Given the description of an element on the screen output the (x, y) to click on. 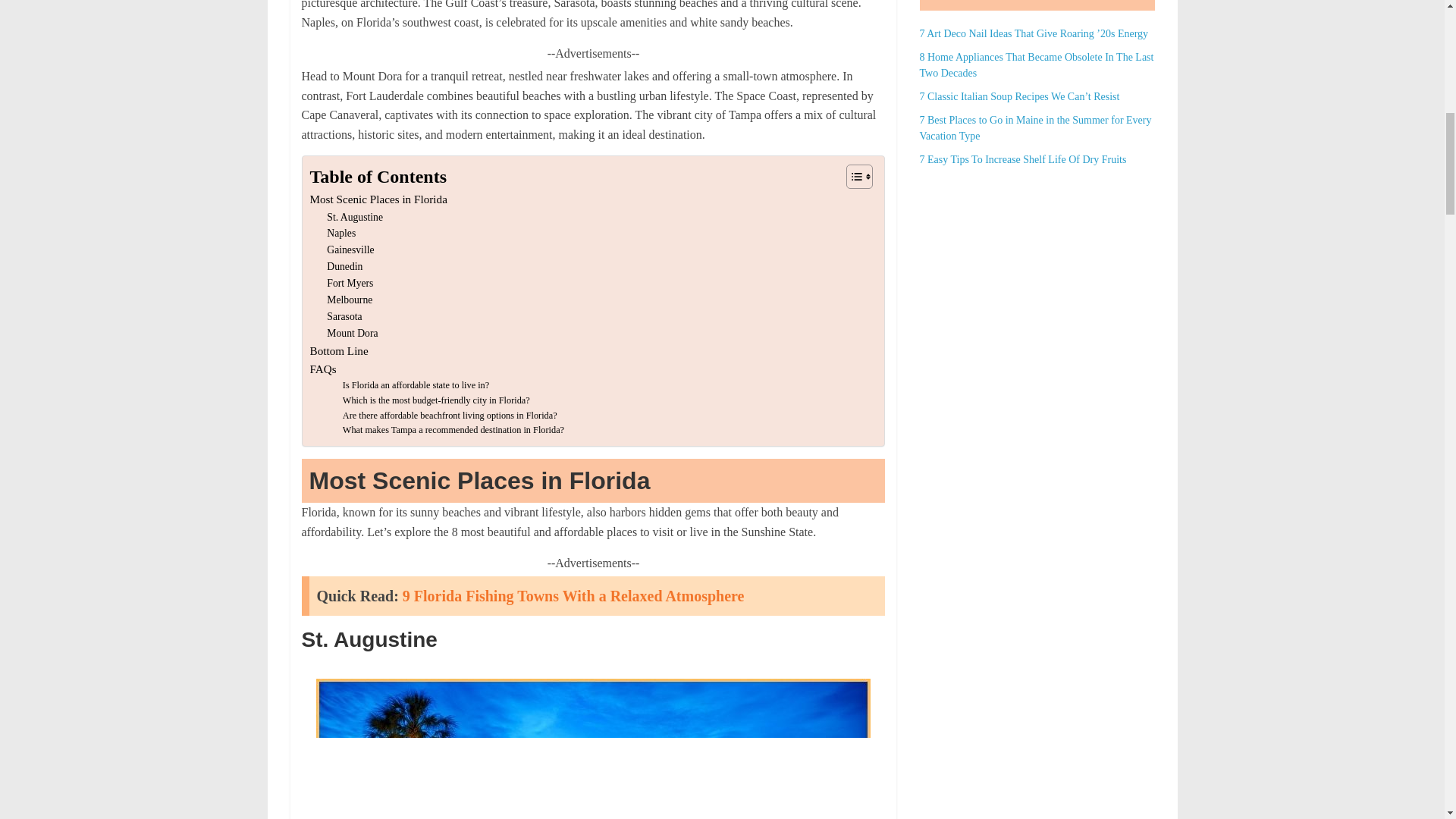
Naples (340, 233)
Most Scenic Places in Florida (377, 199)
Gainesville (350, 249)
Dunedin (344, 266)
St. Augustine (354, 217)
Dunedin (344, 266)
Naples (340, 233)
Fort Myers (349, 283)
Gainesville (350, 249)
Most Scenic Places in Florida (377, 199)
Melbourne (349, 299)
St. Augustine (354, 217)
